Given the description of an element on the screen output the (x, y) to click on. 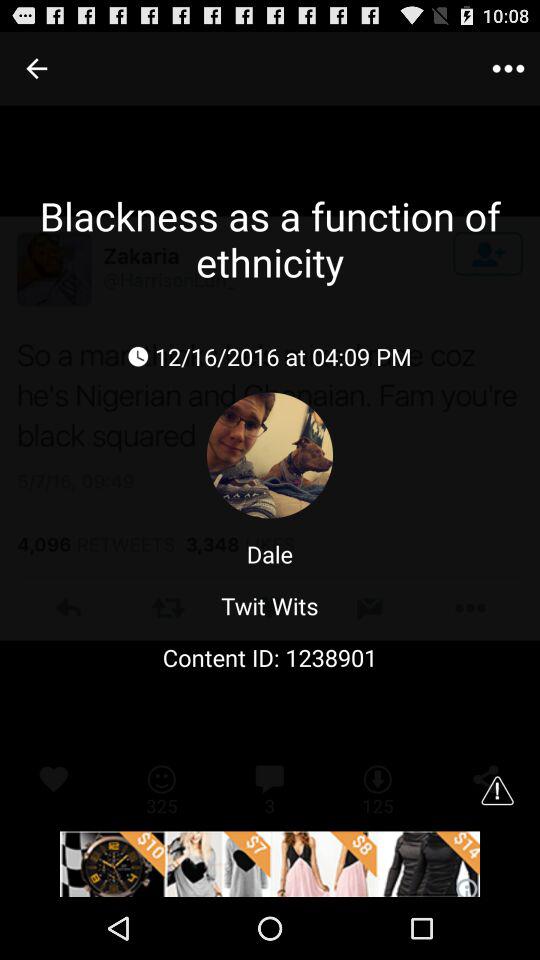
select the moving button (270, 864)
